Given the description of an element on the screen output the (x, y) to click on. 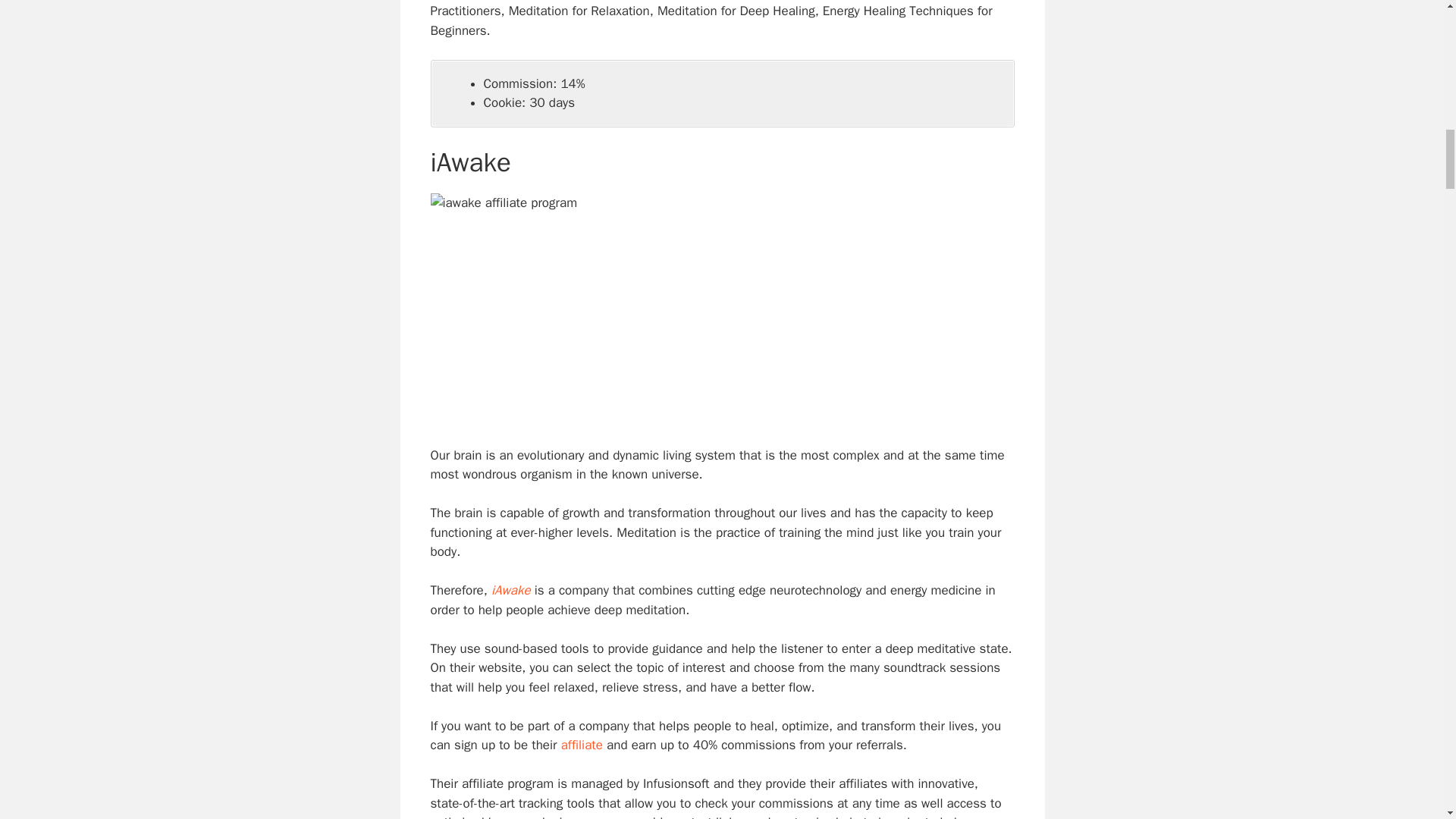
iAwake (511, 590)
affiliate (581, 744)
